Given the description of an element on the screen output the (x, y) to click on. 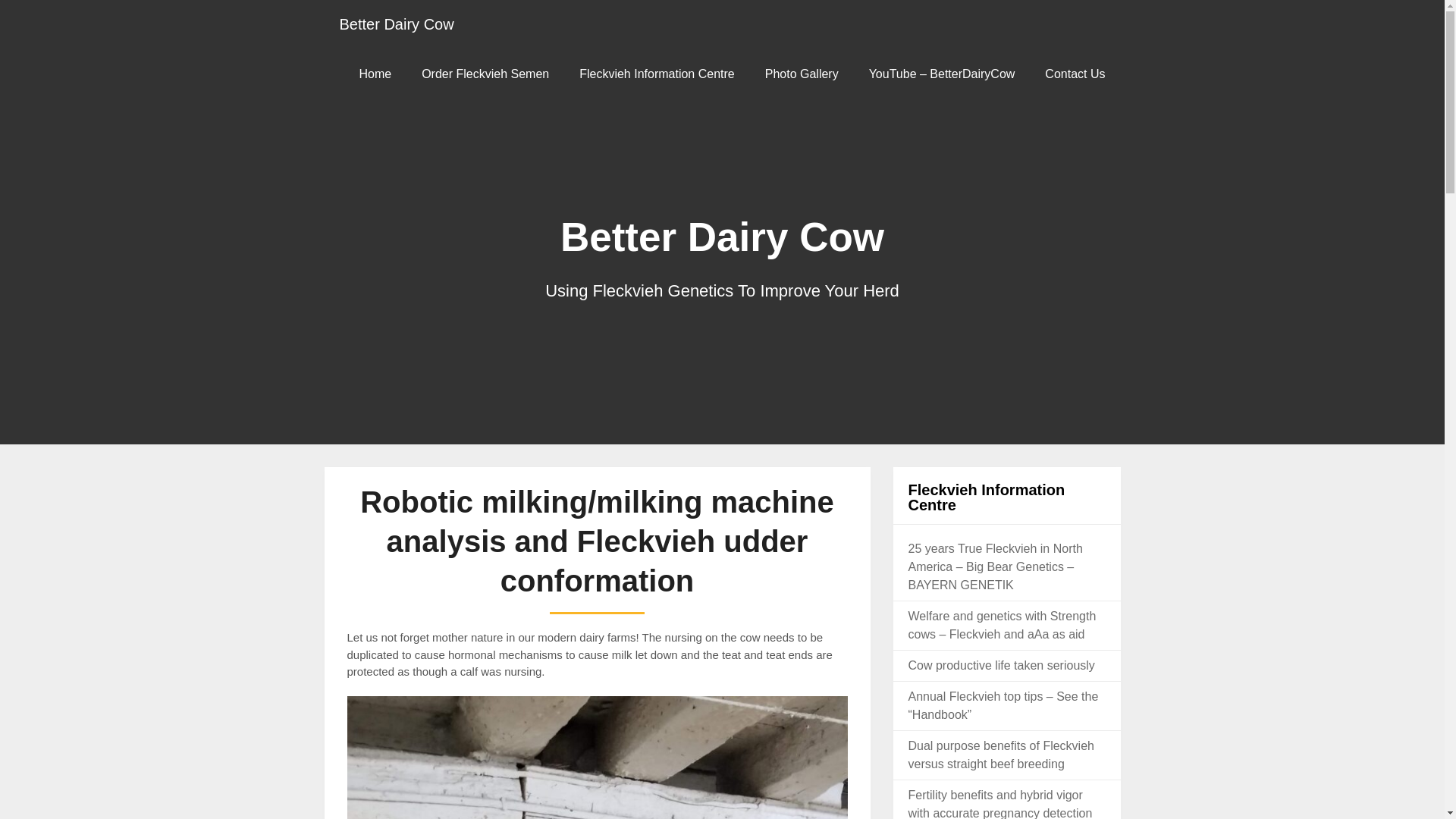
Photo Gallery (801, 73)
Fleckvieh Information Centre (656, 73)
Order Fleckvieh Semen (485, 73)
Contact Us (1074, 73)
Home (374, 73)
Cow productive life taken seriously (1001, 665)
Better Dairy Cow (396, 24)
